Given the description of an element on the screen output the (x, y) to click on. 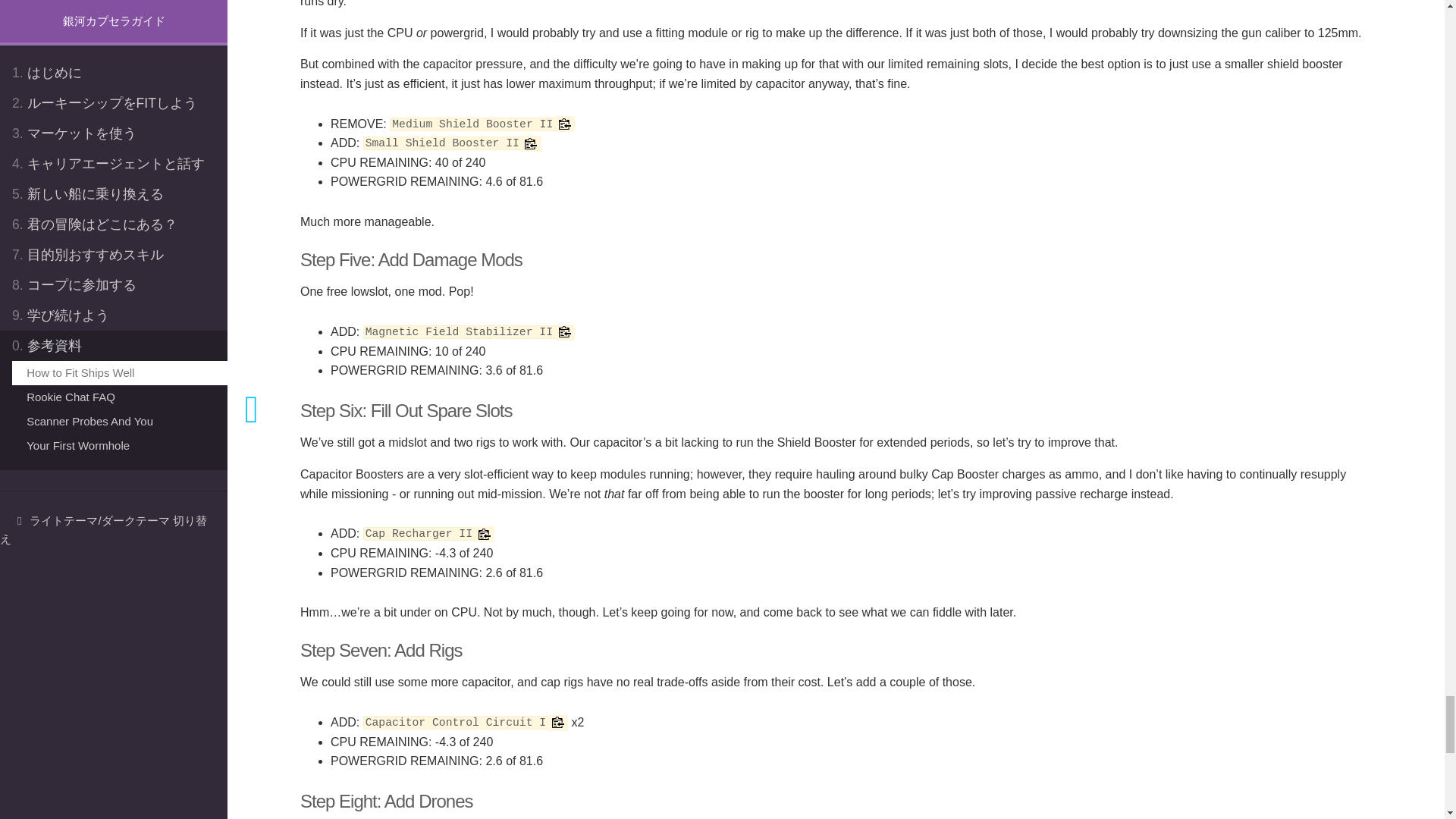
Copy to clipboard (557, 722)
Copy to clipboard (531, 143)
Copy to clipboard (564, 332)
Copy to clipboard (564, 123)
Copy to clipboard (484, 534)
